Given the description of an element on the screen output the (x, y) to click on. 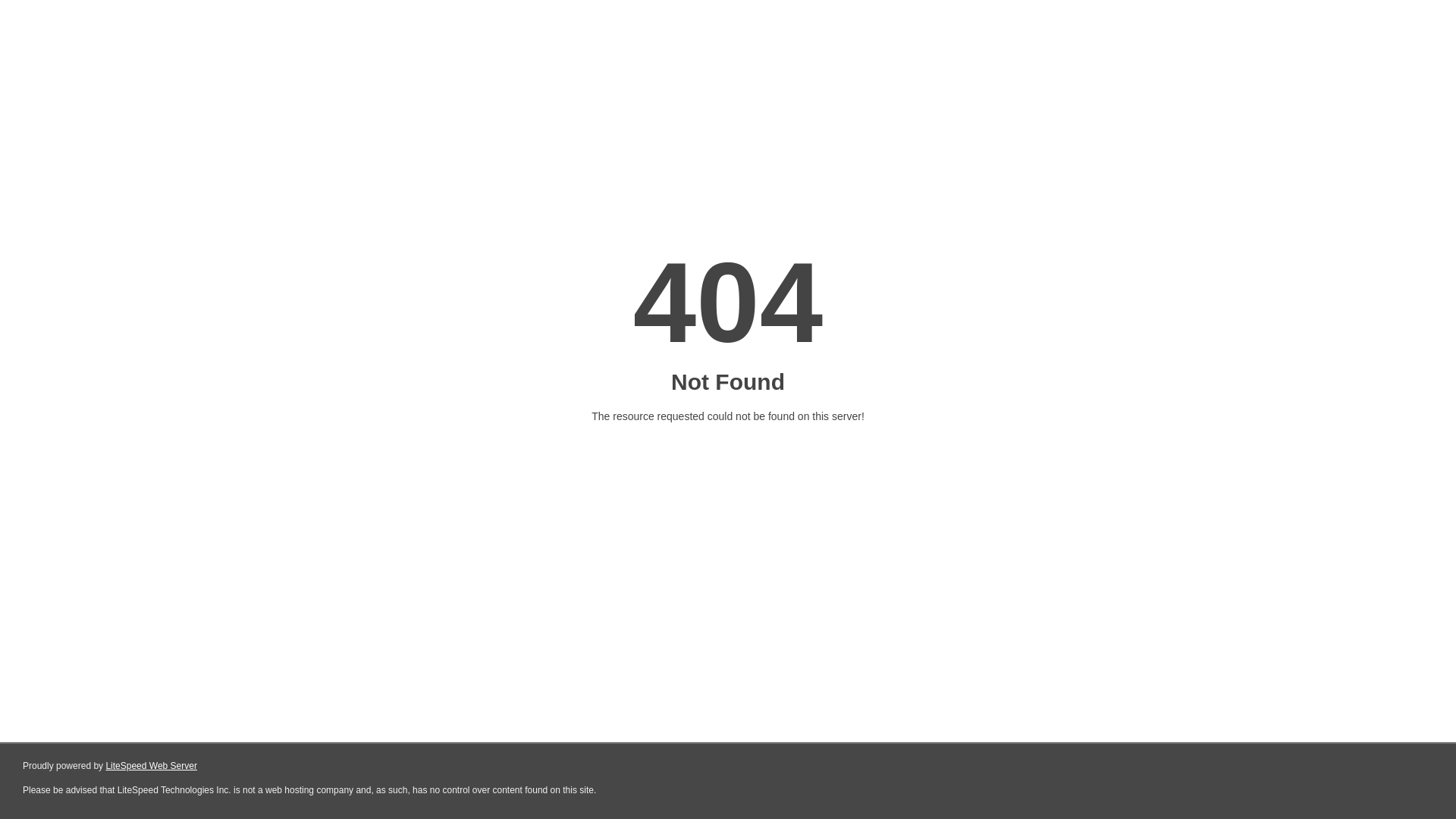
LiteSpeed Web Server Element type: text (151, 765)
